Given the description of an element on the screen output the (x, y) to click on. 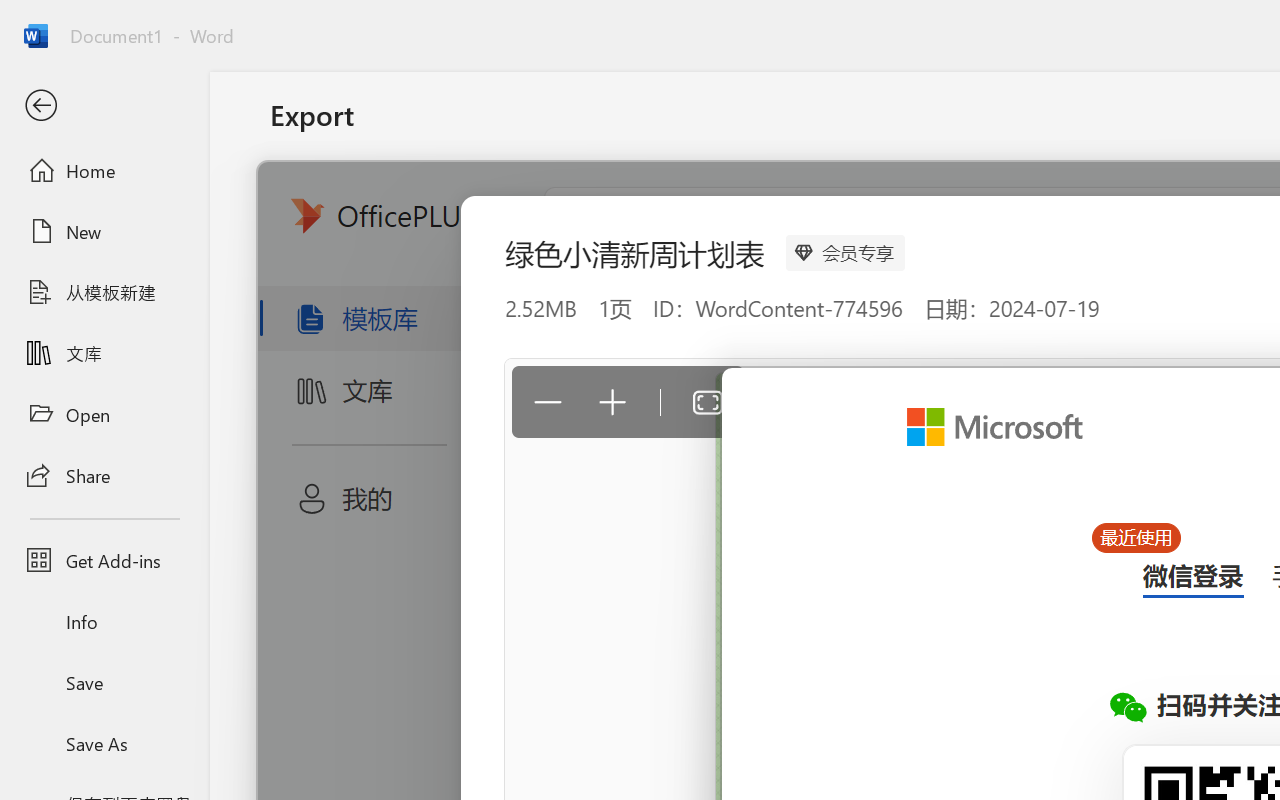
Get Add-ins (104, 560)
